Given the description of an element on the screen output the (x, y) to click on. 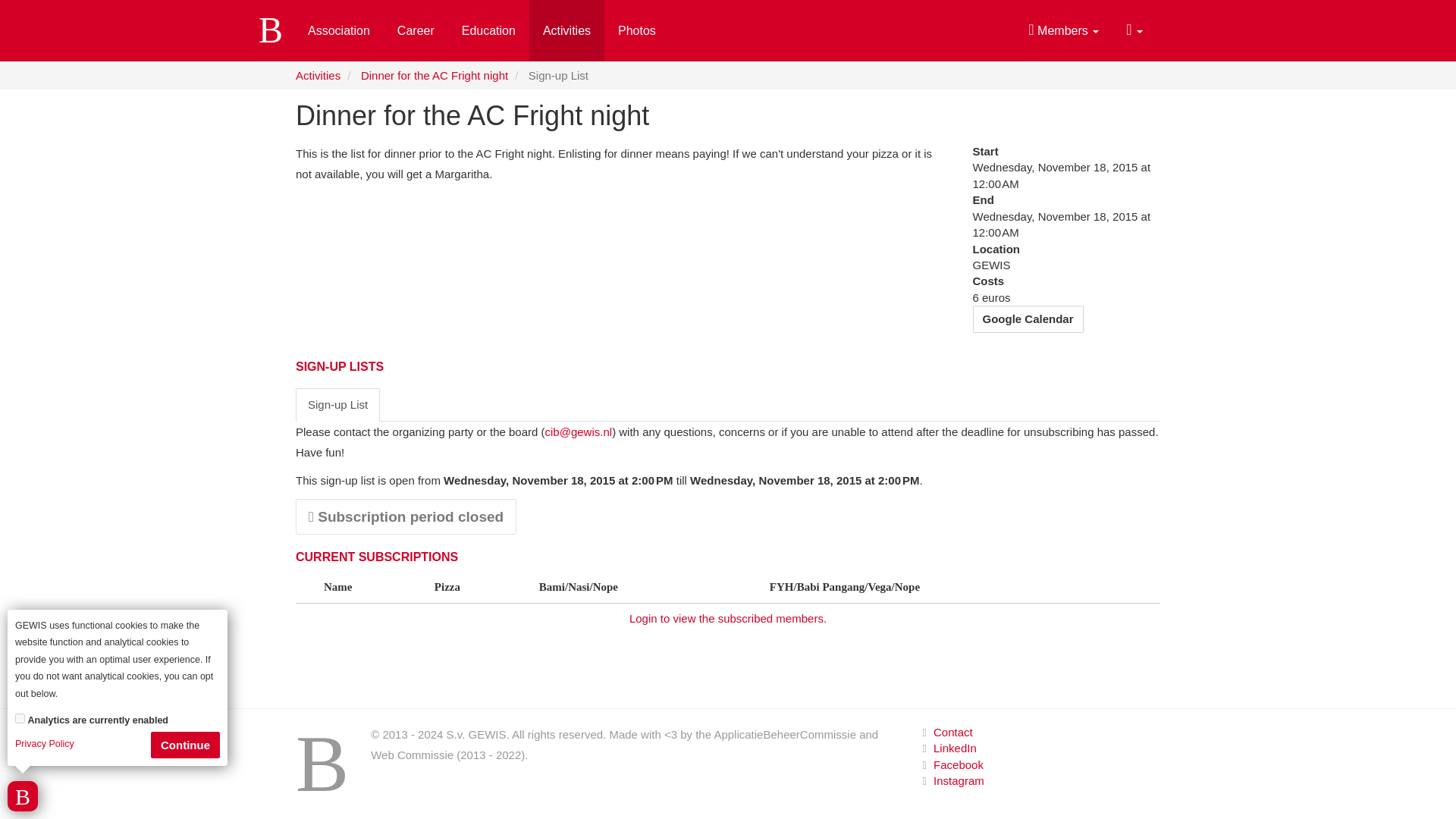
Association (339, 30)
Career (416, 30)
Members (1063, 30)
Activities (566, 30)
on (19, 718)
Education (488, 30)
Photos (636, 30)
